Given the description of an element on the screen output the (x, y) to click on. 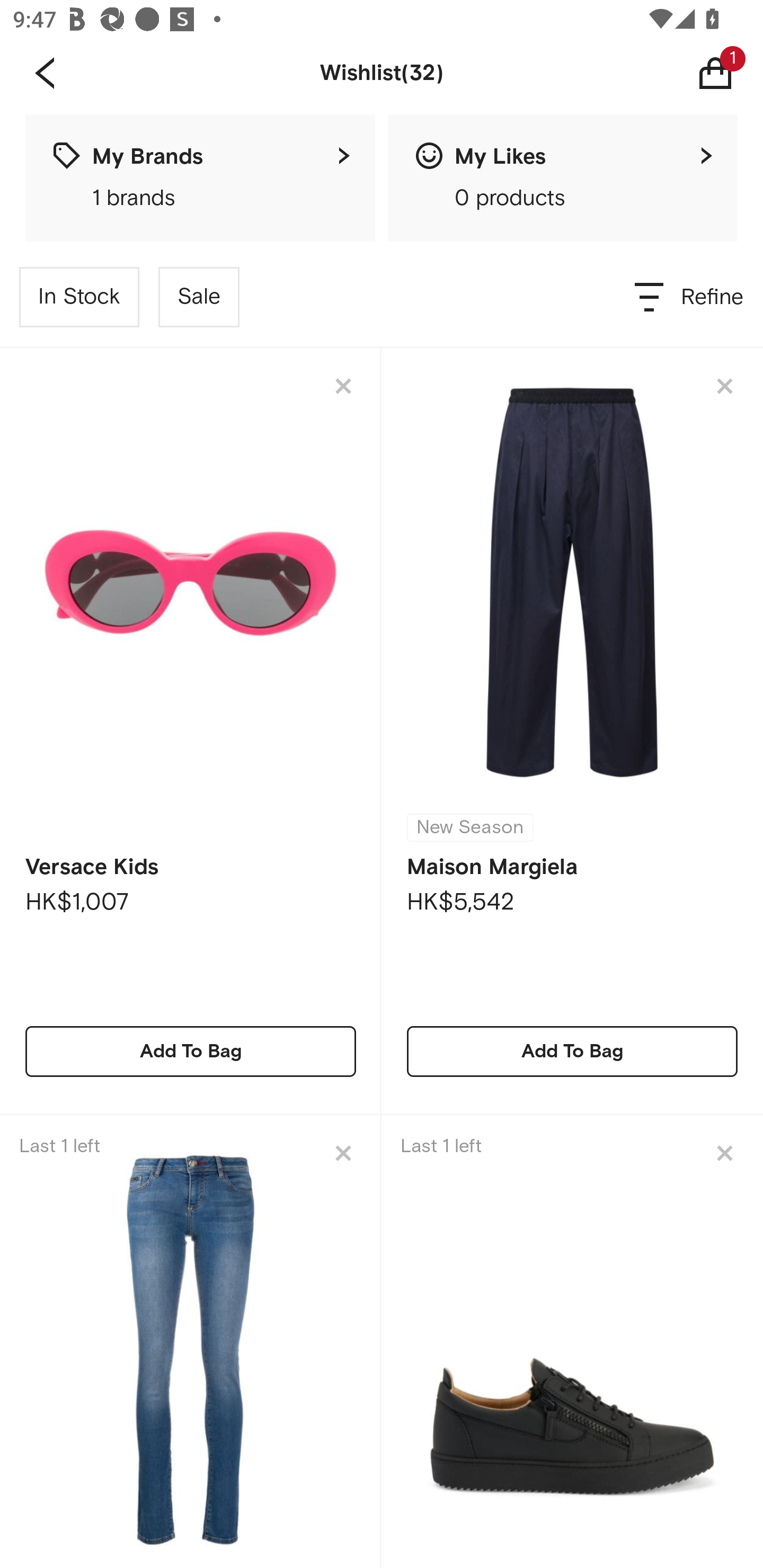
1 (729, 72)
My Brands 1 brands (200, 177)
My Likes 0 products (562, 177)
In Stock (79, 296)
Sale (198, 296)
Refine (690, 296)
Versace Kids HK$1,007 Add To Bag (190, 731)
New Season Maison Margiela HK$5,542 Add To Bag (572, 731)
Add To Bag (190, 1050)
Add To Bag (571, 1050)
Last 1 left (190, 1341)
Last 1 left (572, 1341)
